Given the description of an element on the screen output the (x, y) to click on. 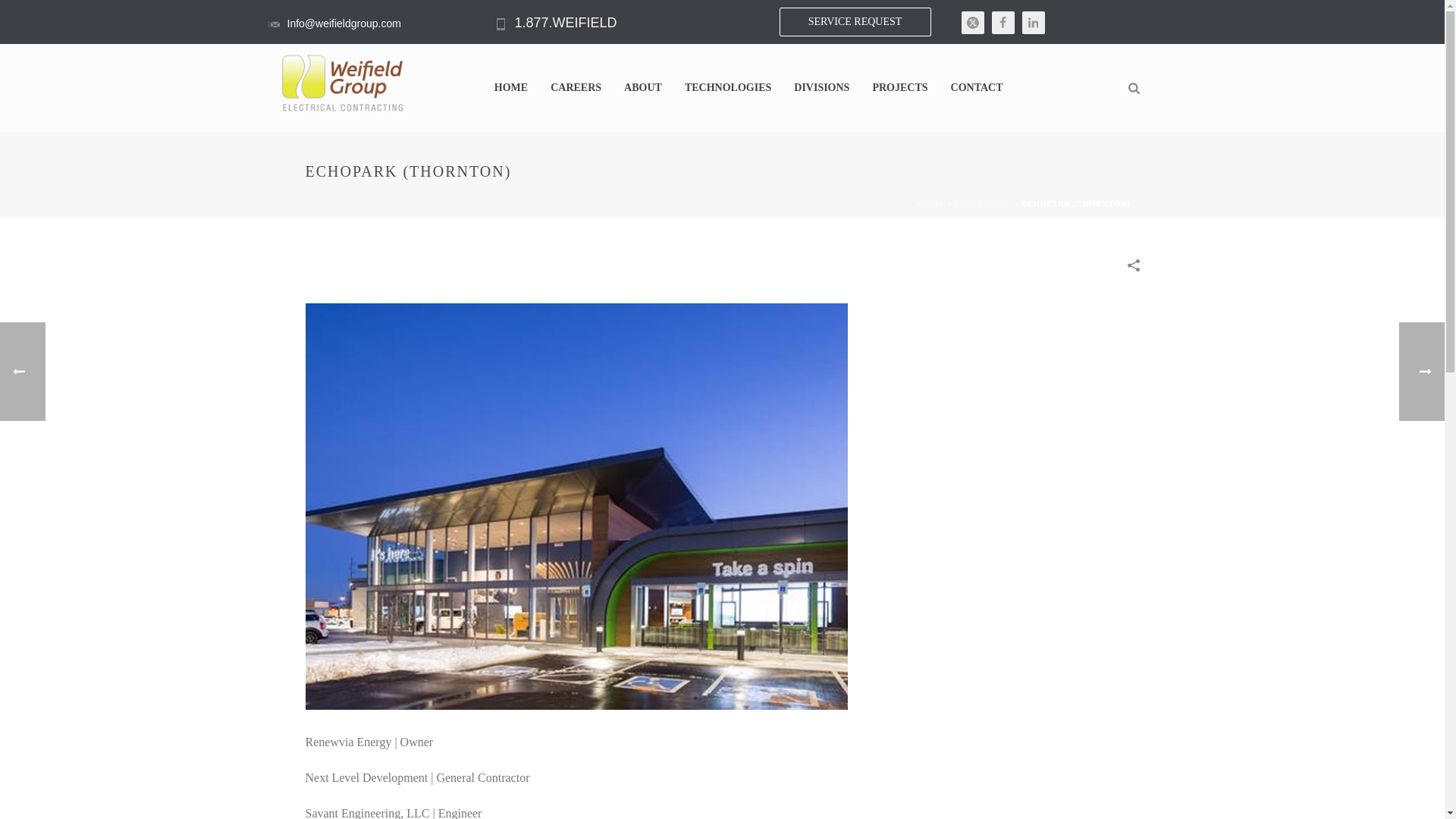
1.877.WEIFIELD (564, 22)
TECHNOLOGIES (727, 87)
SERVICE REQUEST (854, 21)
LEEDing the way in electrical construction (343, 82)
TECHNOLOGIES (727, 87)
